Given the description of an element on the screen output the (x, y) to click on. 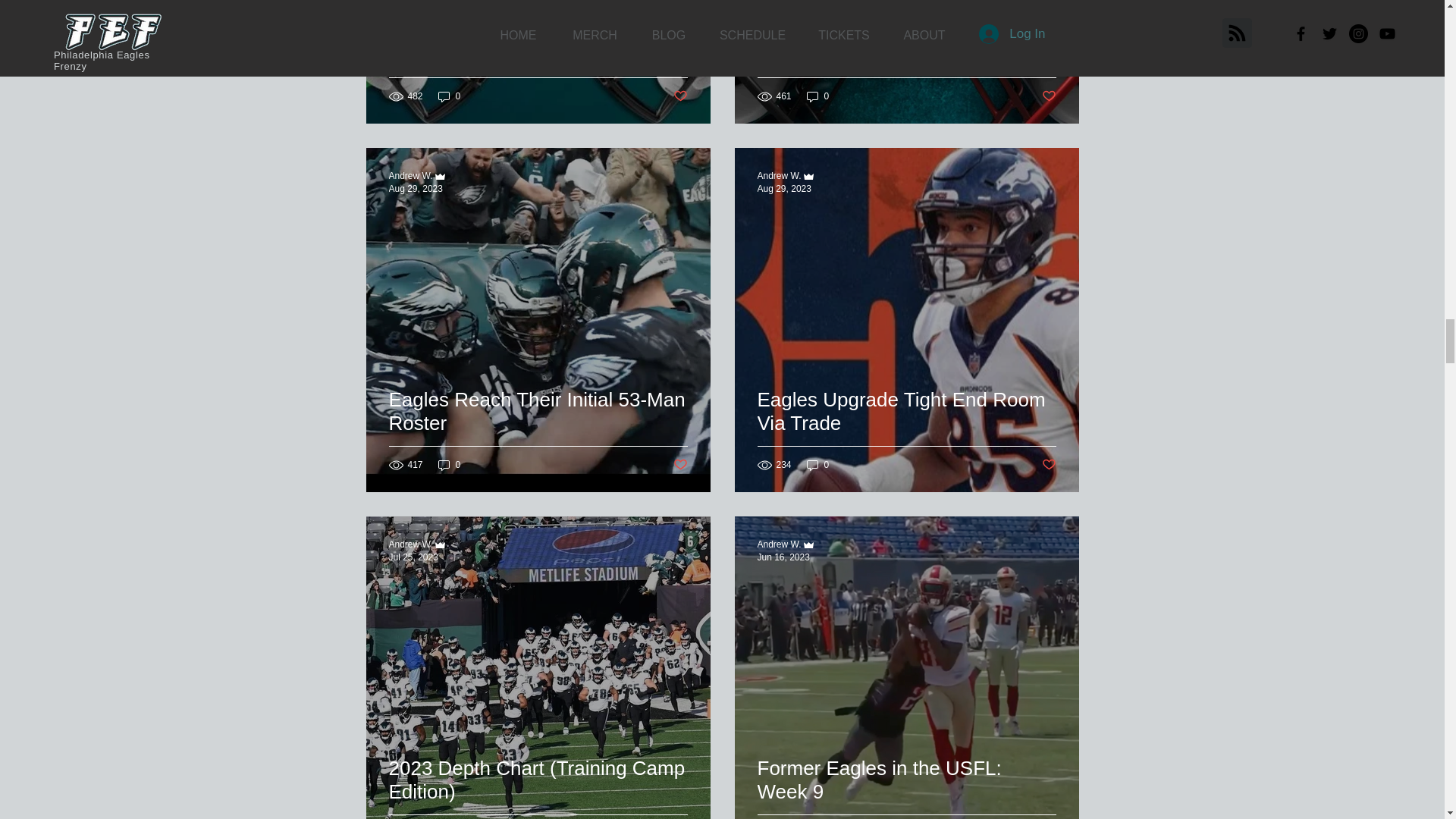
Andrew W. (778, 175)
Andrew W. (410, 175)
Aug 29, 2023 (415, 188)
Andrew W. (410, 543)
Aug 29, 2023 (783, 188)
